Given the description of an element on the screen output the (x, y) to click on. 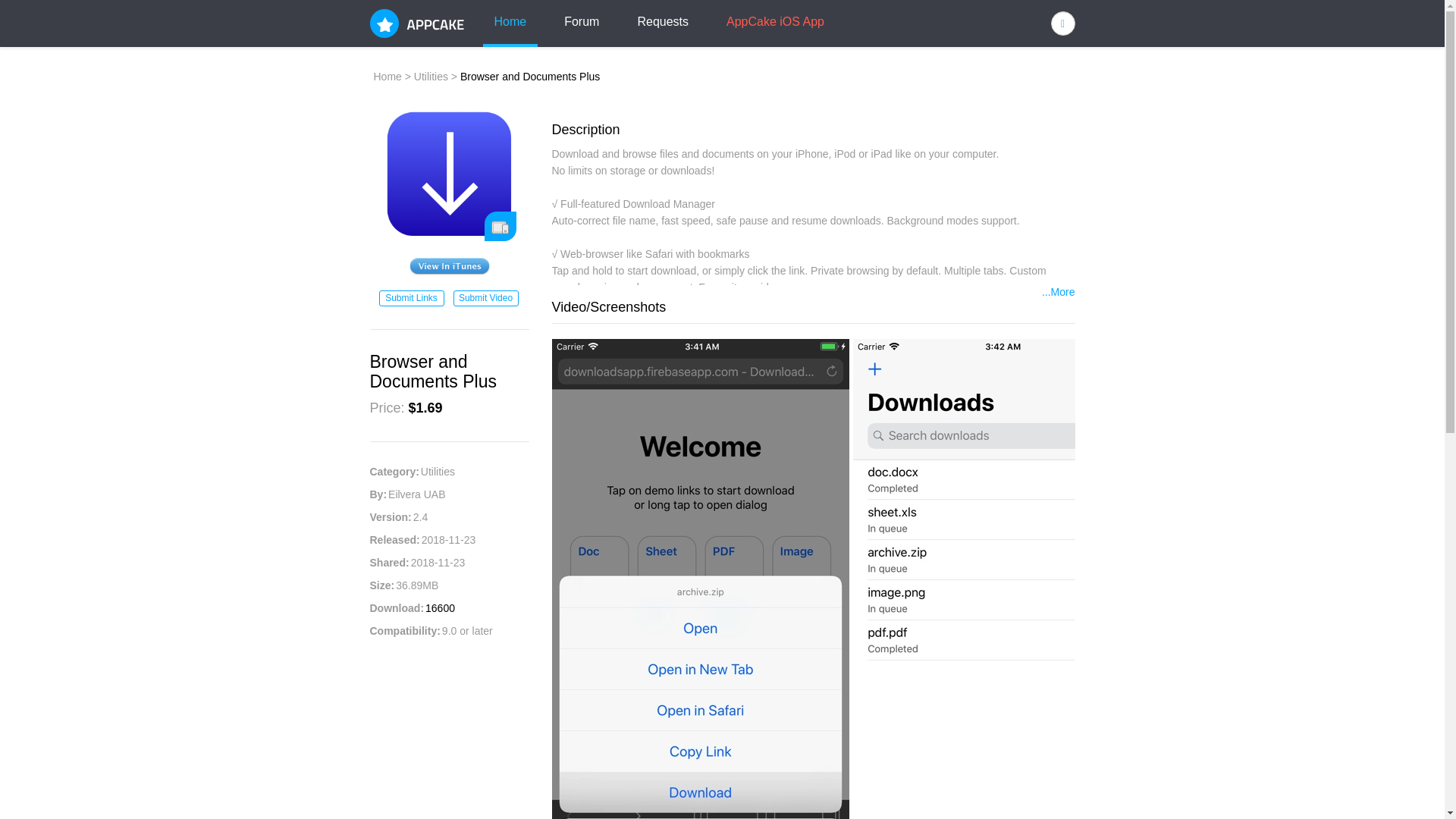
View In iTunes (449, 266)
...More (1058, 292)
Submit Links (411, 298)
Forum (581, 23)
Requests (663, 23)
Home (386, 76)
Browser and Documents Plus Icon (448, 173)
Home (509, 23)
Utilities (430, 76)
AppCake iOS App (774, 23)
Submit Video (485, 298)
